Given the description of an element on the screen output the (x, y) to click on. 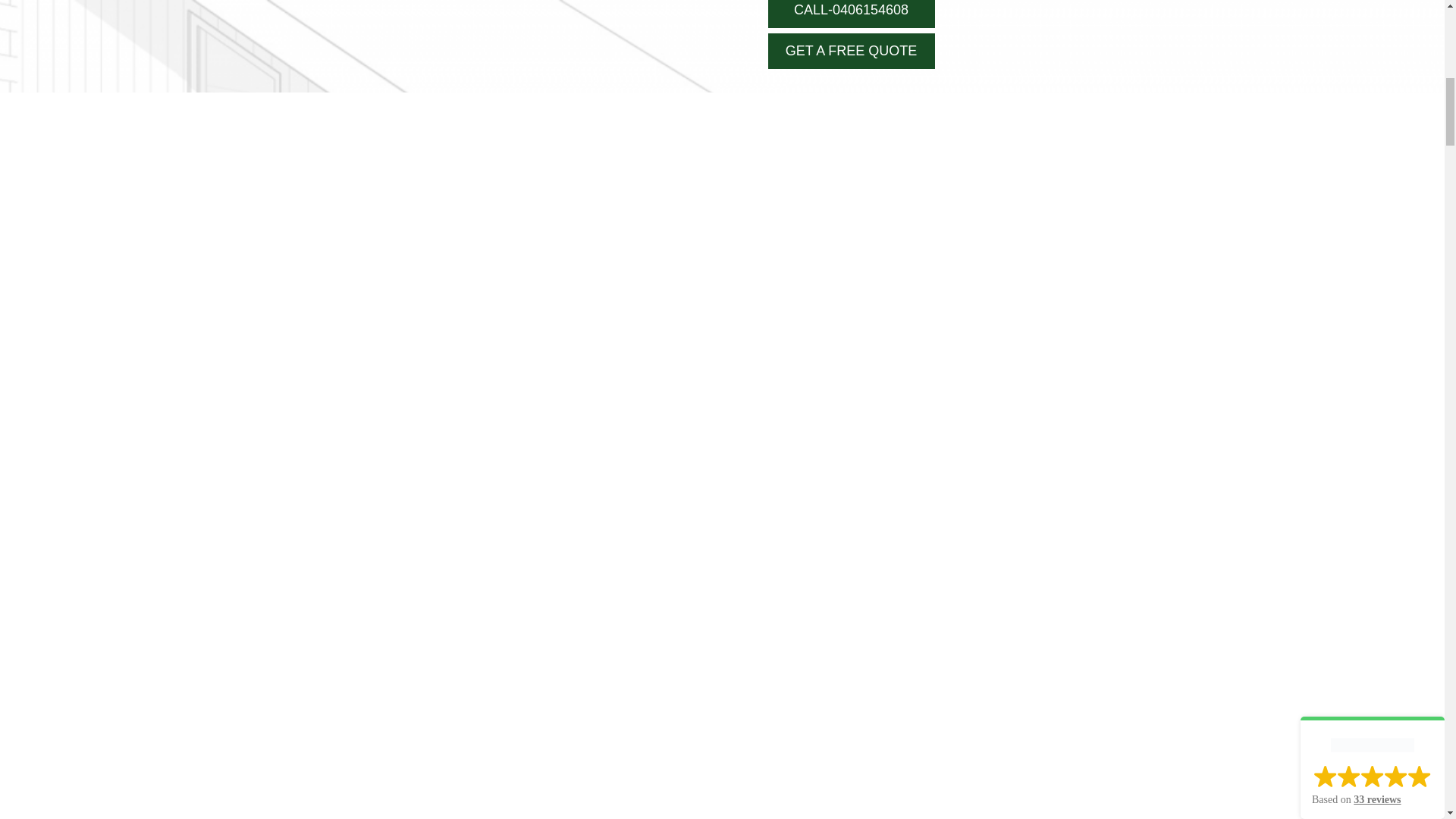
CALL-0406154608 (850, 13)
GET A FREE QUOTE (850, 50)
